Given the description of an element on the screen output the (x, y) to click on. 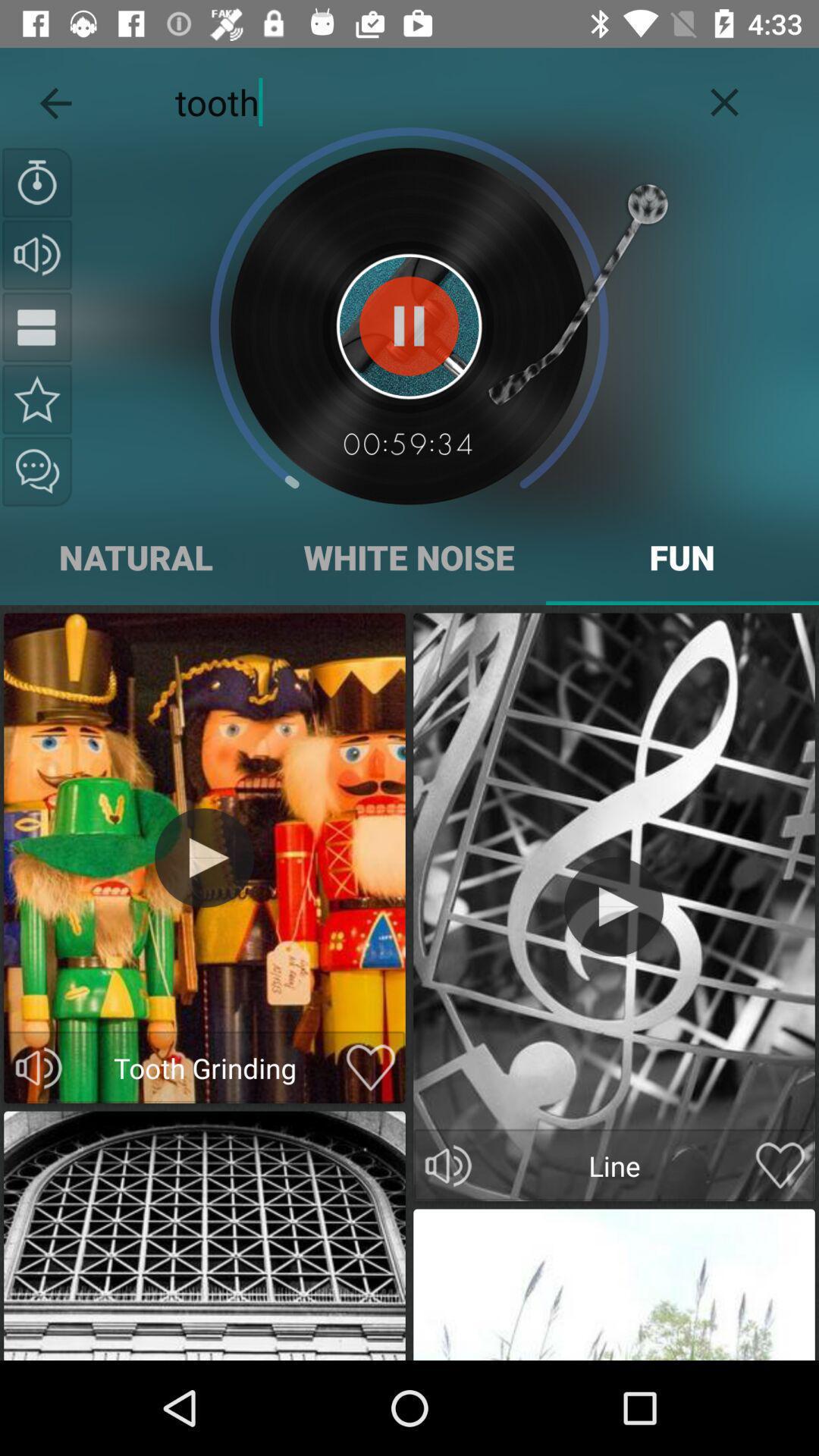
volume button (37, 255)
